Given the description of an element on the screen output the (x, y) to click on. 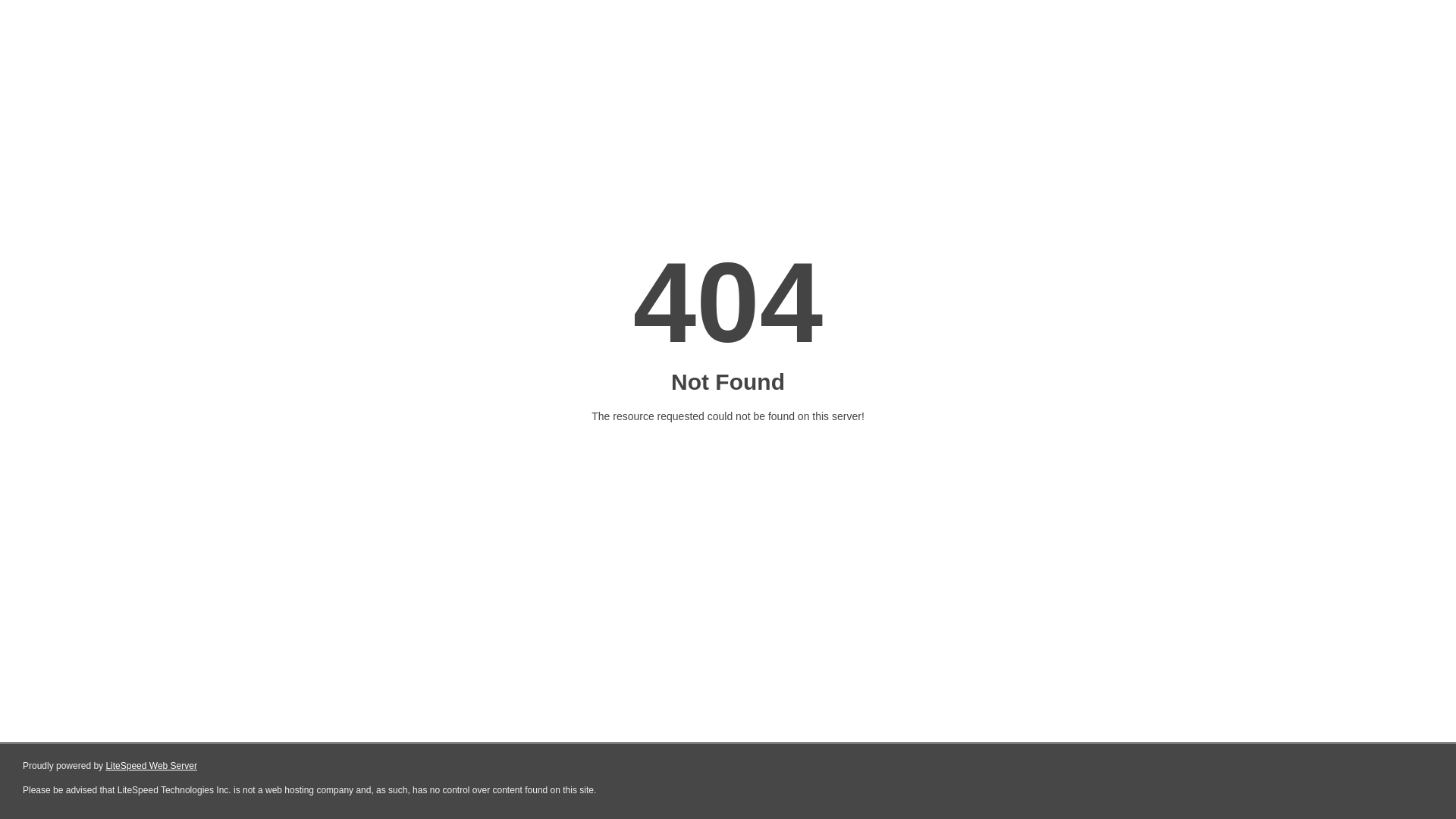
LiteSpeed Web Server Element type: text (151, 765)
